Given the description of an element on the screen output the (x, y) to click on. 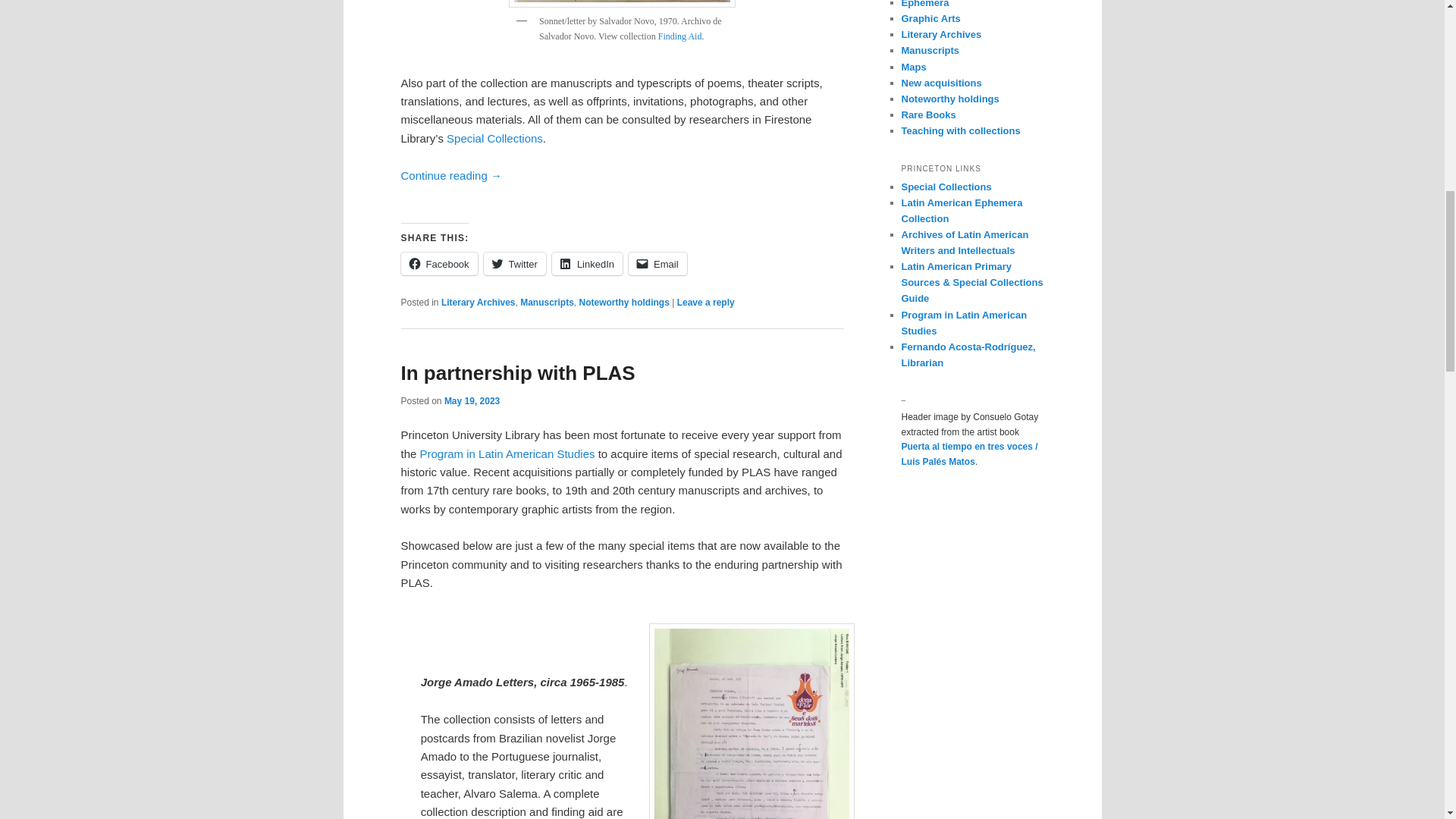
Literary Archives (478, 302)
May 19, 2023 (471, 400)
Email (657, 263)
Noteworthy holdings (624, 302)
Manuscripts (546, 302)
Click to share on LinkedIn (587, 263)
11:37 am (471, 400)
LinkedIn (587, 263)
Twitter (514, 263)
Click to email a link to a friend (657, 263)
